Given the description of an element on the screen output the (x, y) to click on. 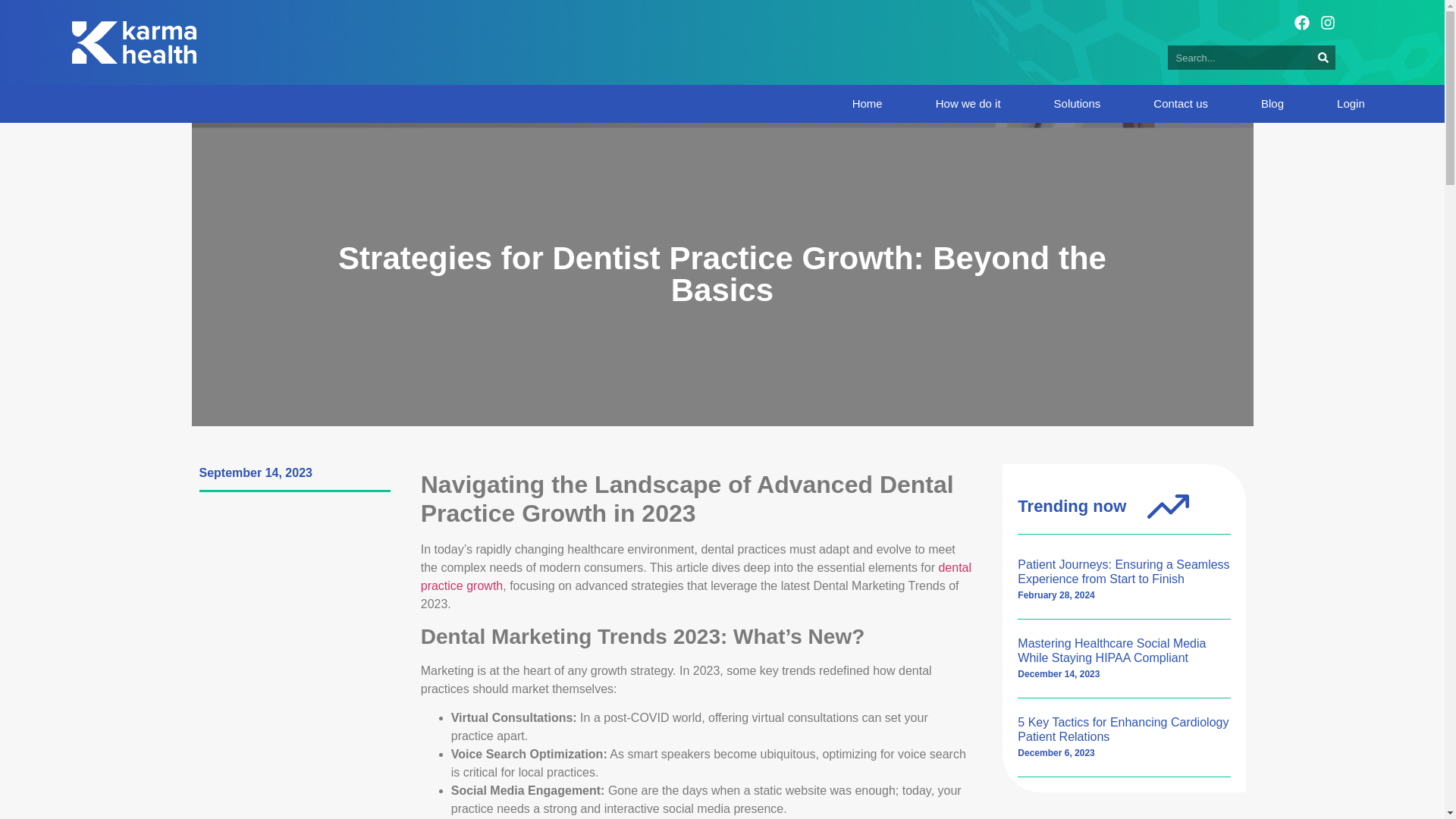
Home (866, 103)
Contact us (1180, 103)
Login (1350, 103)
Solutions (1077, 103)
Blog (1272, 103)
How we do it (968, 103)
